Given the description of an element on the screen output the (x, y) to click on. 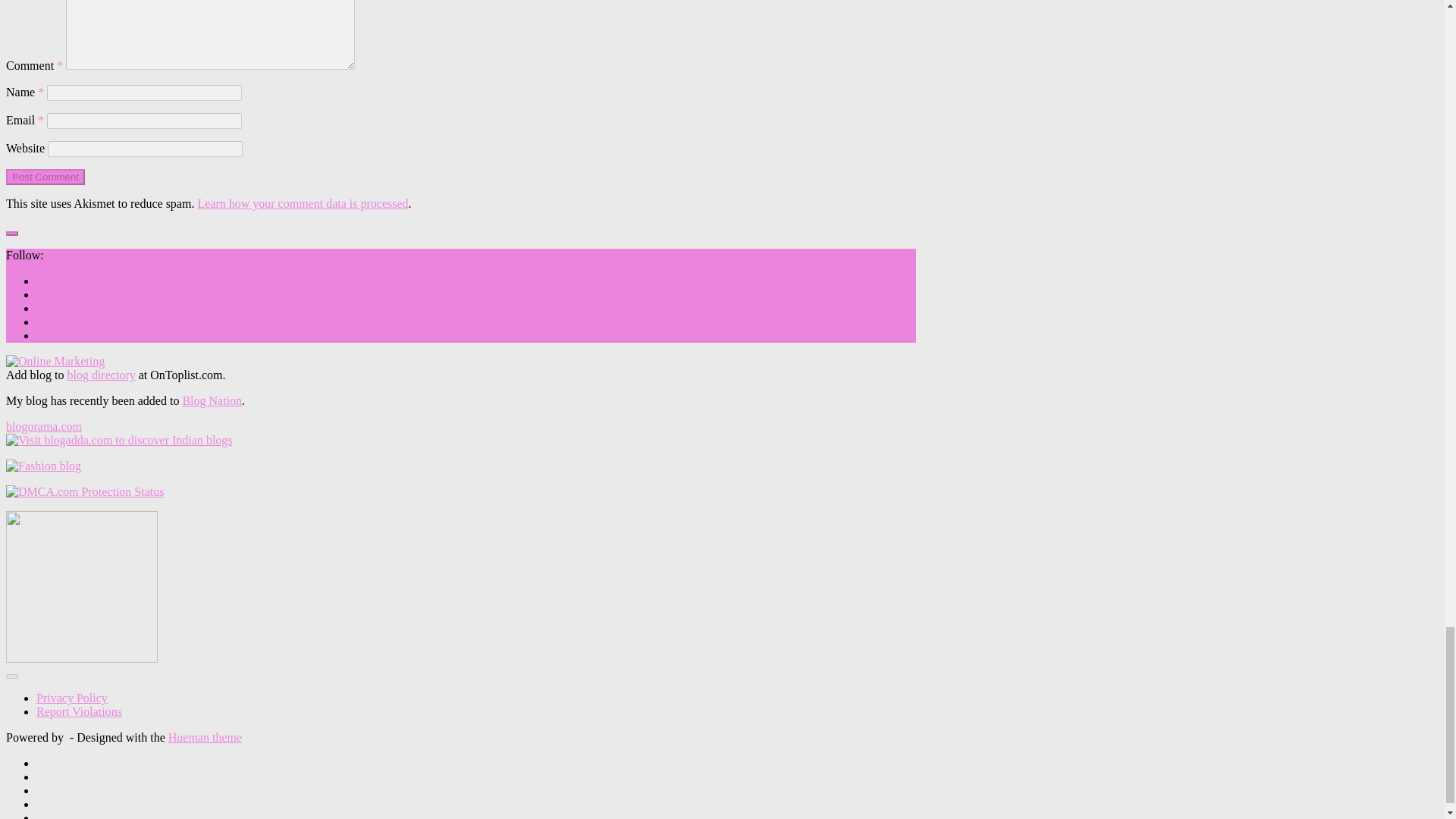
Online Marketing (54, 360)
Expand Sidebar (11, 232)
Post Comment (44, 176)
